Given the description of an element on the screen output the (x, y) to click on. 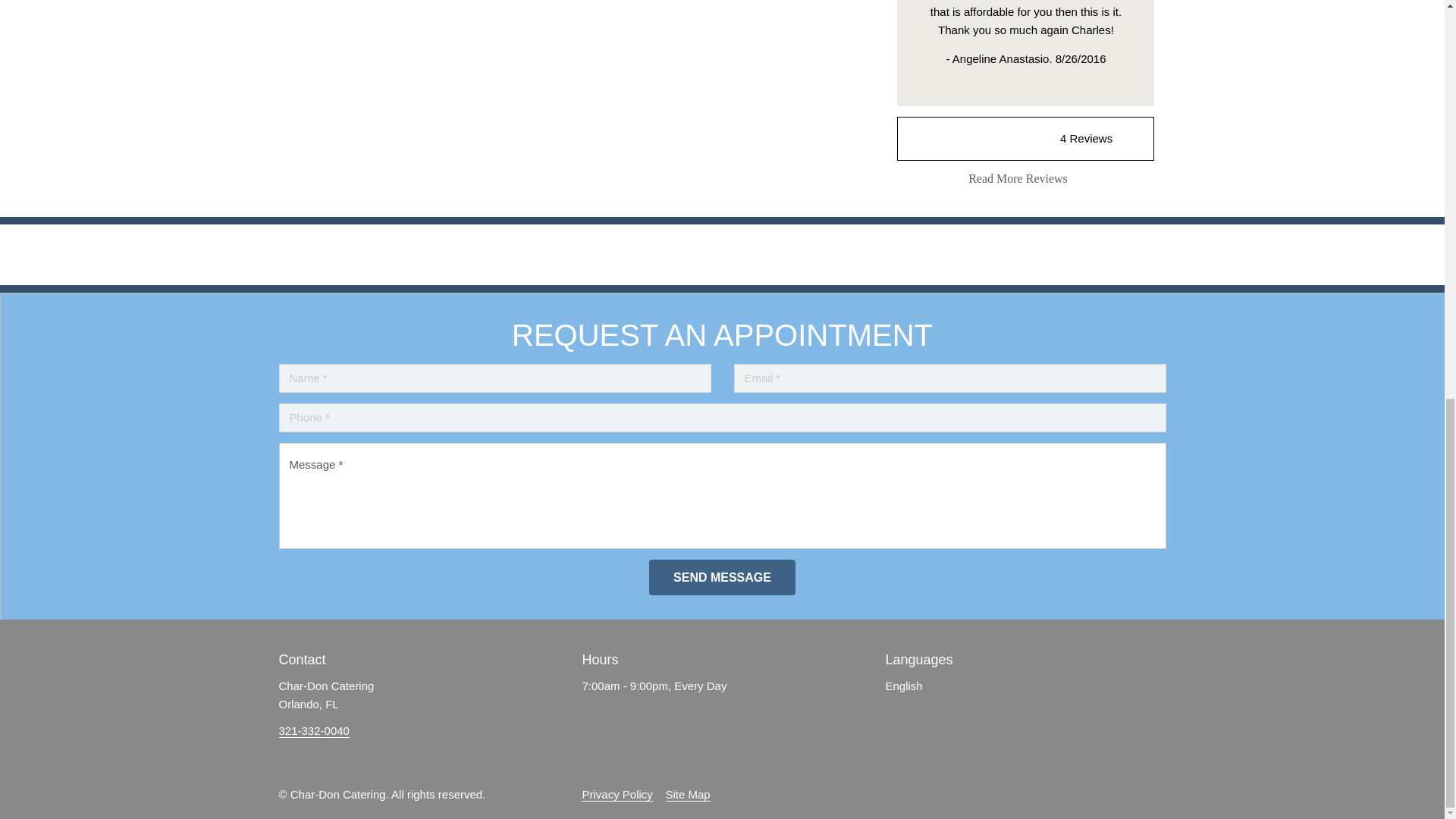
Privacy Policy (616, 794)
Site Map (687, 794)
321-332-0040 (314, 730)
SEND MESSAGE (721, 577)
Read More Reviews (1025, 178)
